Given the description of an element on the screen output the (x, y) to click on. 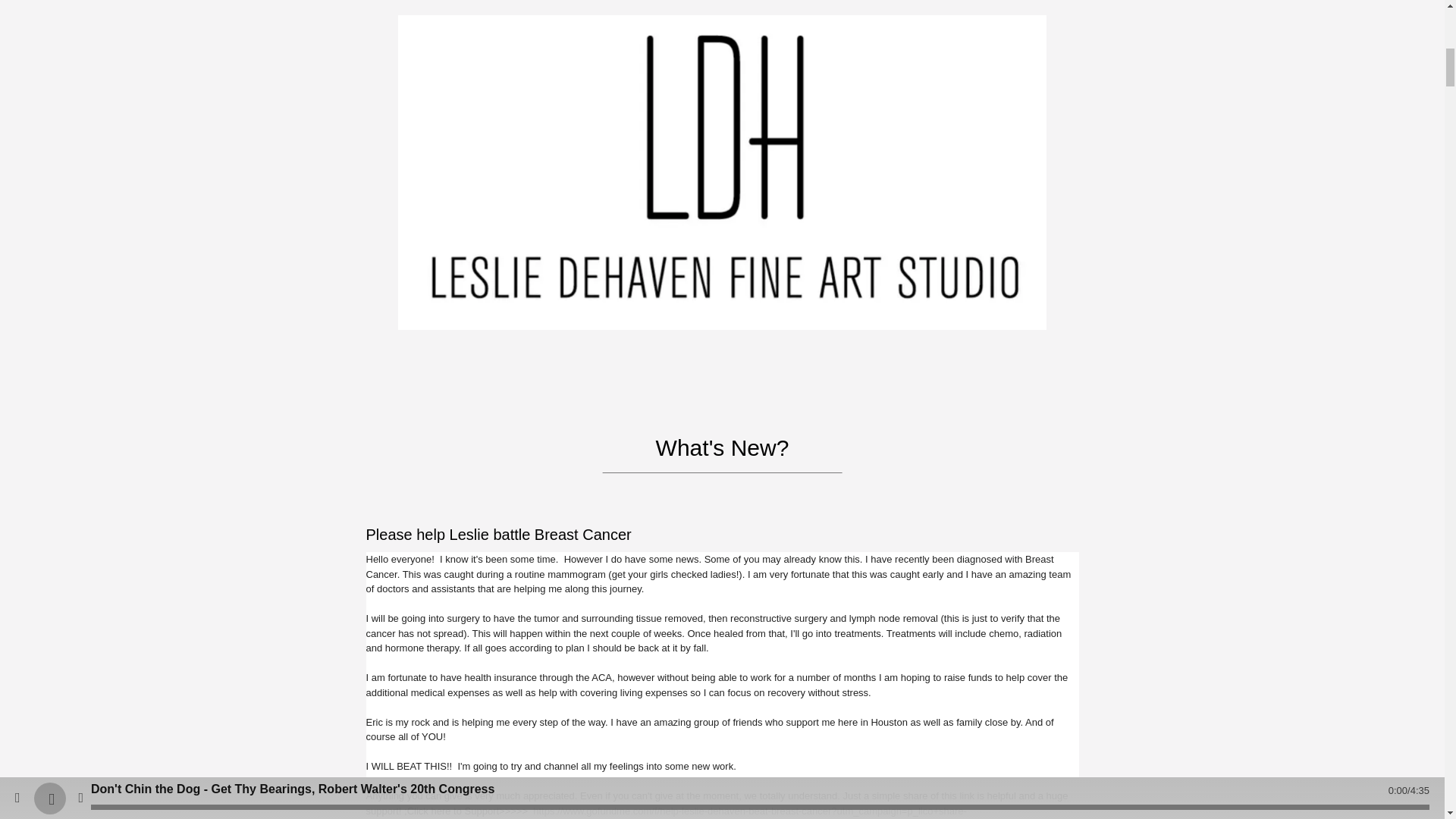
Please help Leslie battle Breast Cancer (497, 534)
